Given the description of an element on the screen output the (x, y) to click on. 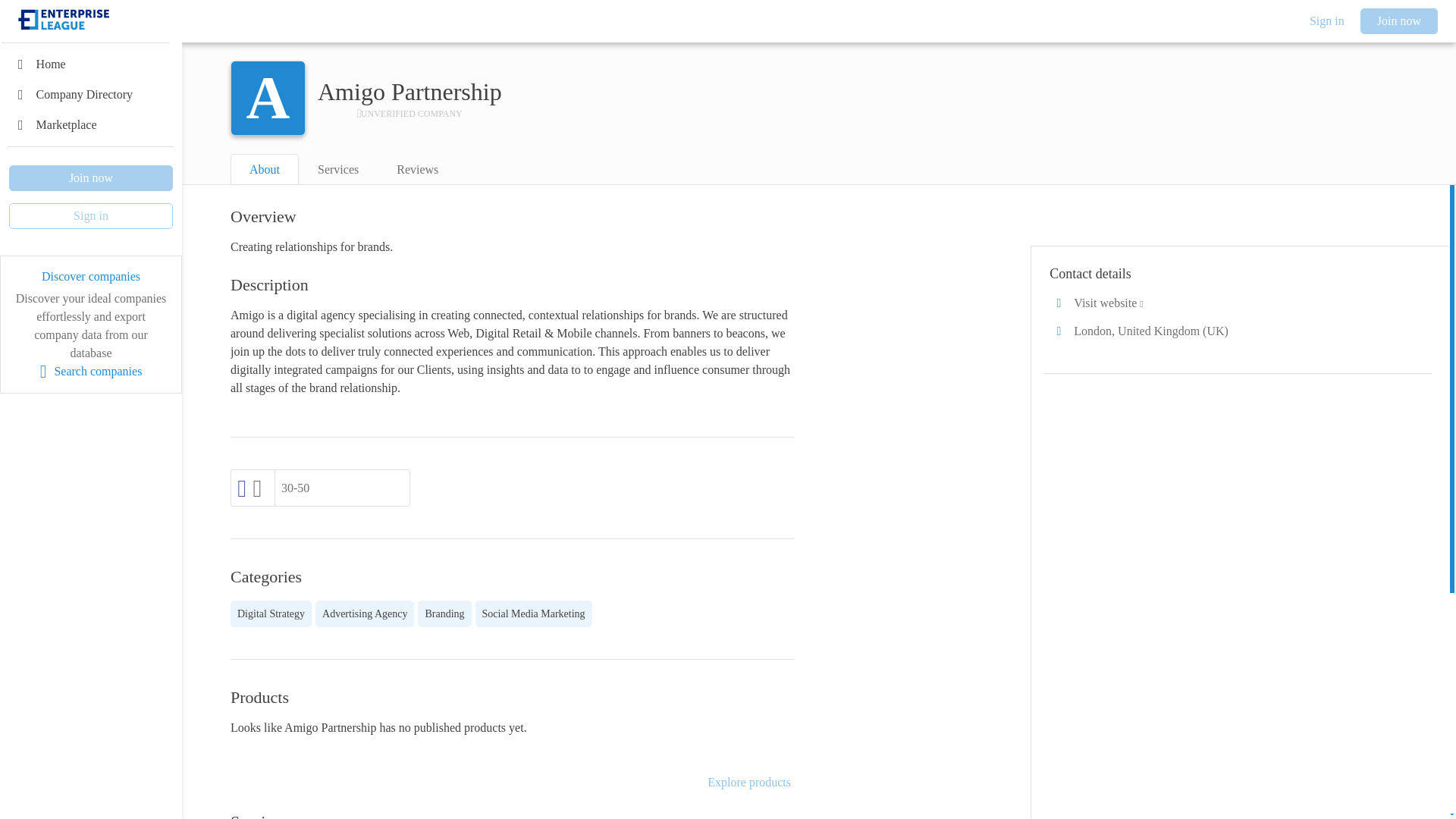
Branding (443, 613)
Advertising Agency (364, 613)
Company Directory (91, 94)
Digital Strategy (270, 613)
Social Media Marketing (534, 613)
Social Media Marketing (534, 613)
Join now (90, 177)
Home (91, 64)
Marketplace (91, 124)
Visit website (1237, 303)
